Given the description of an element on the screen output the (x, y) to click on. 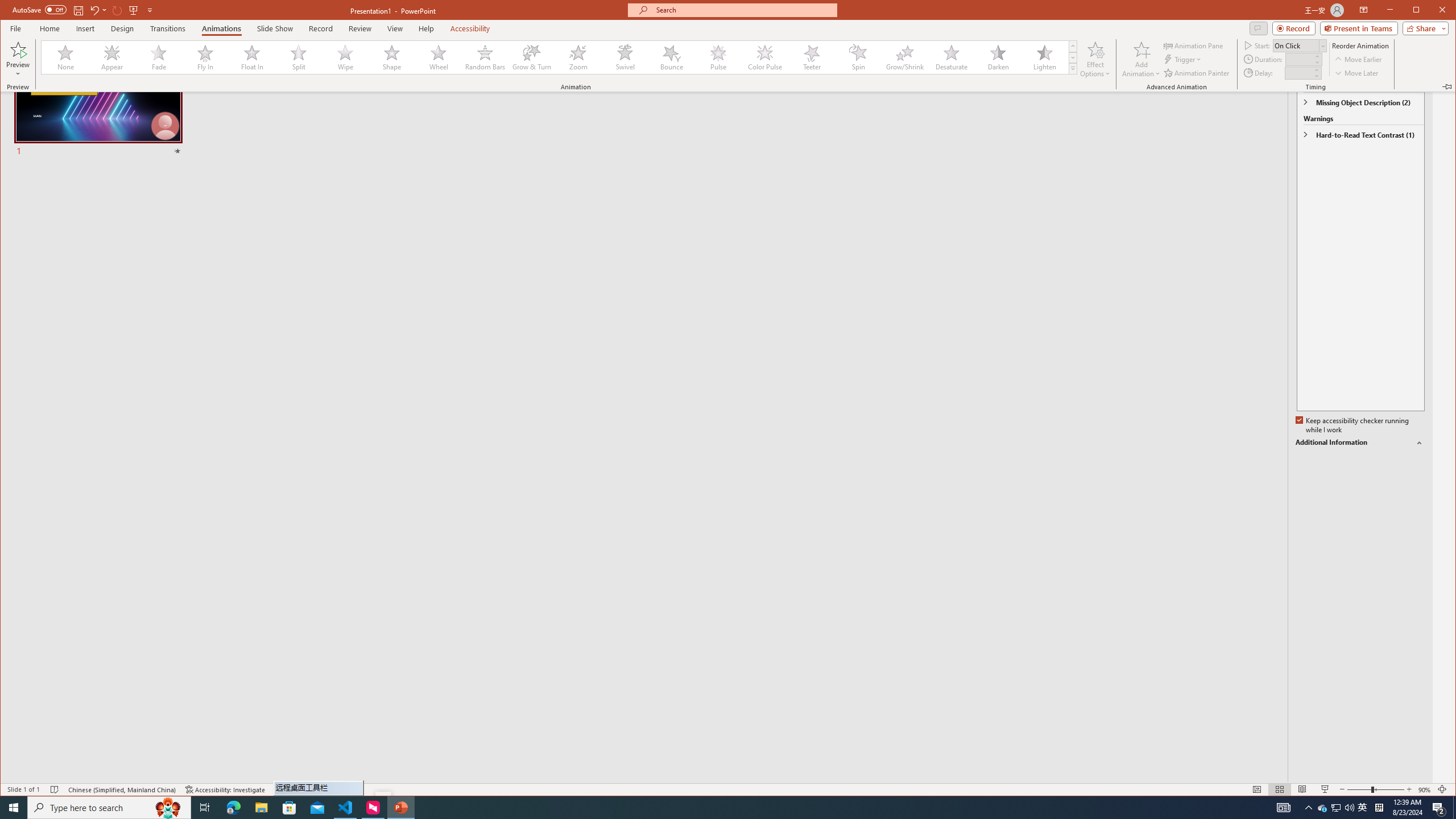
Zoom In (1408, 789)
Home (49, 28)
Keep accessibility checker running while I work (1352, 425)
Notification Chevron (1308, 807)
File Explorer (261, 807)
Additional Information (1322, 807)
Share (1360, 442)
Start (1422, 27)
Spell Check No Errors (13, 807)
